Given the description of an element on the screen output the (x, y) to click on. 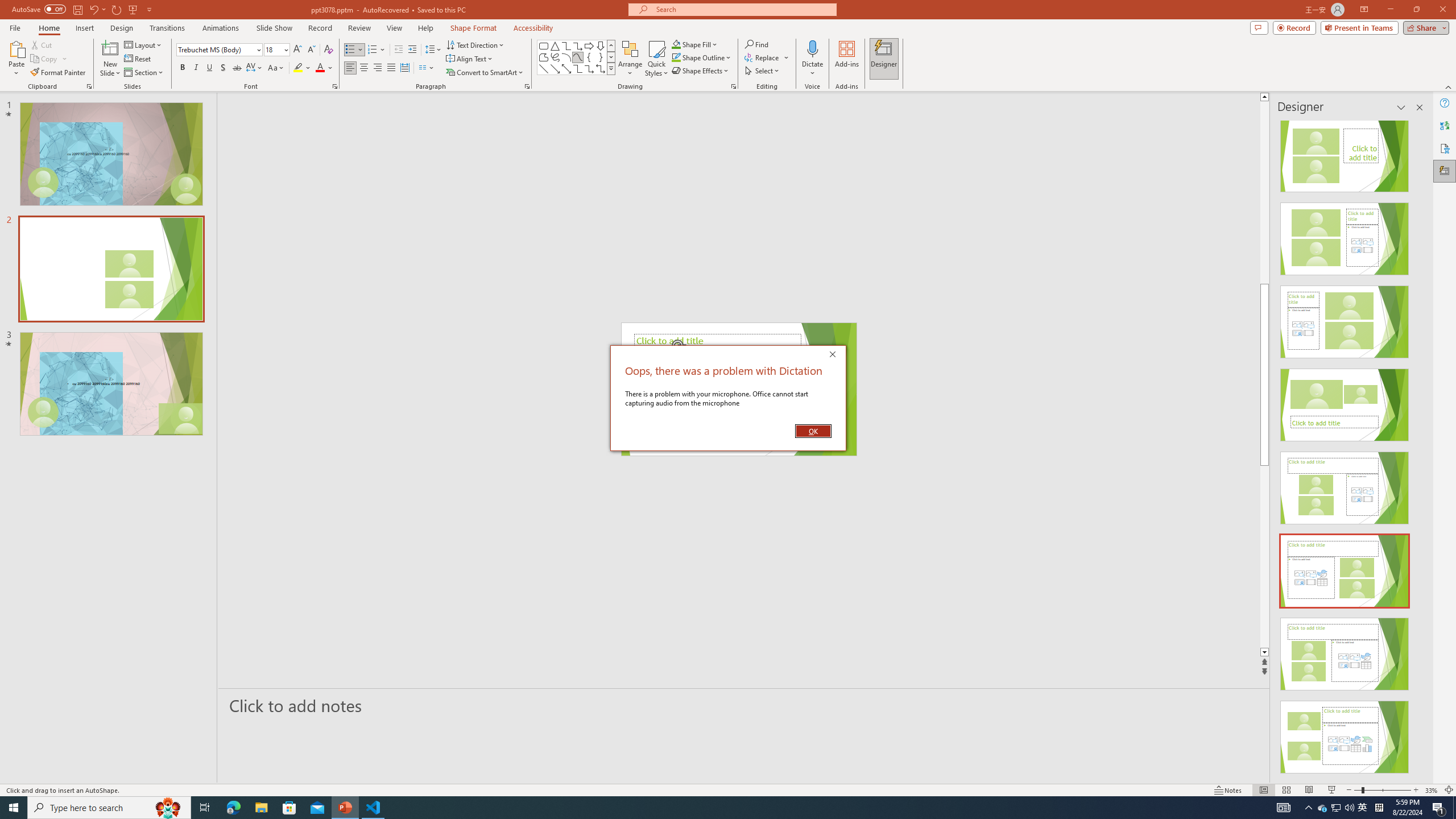
OK (812, 431)
